Given the description of an element on the screen output the (x, y) to click on. 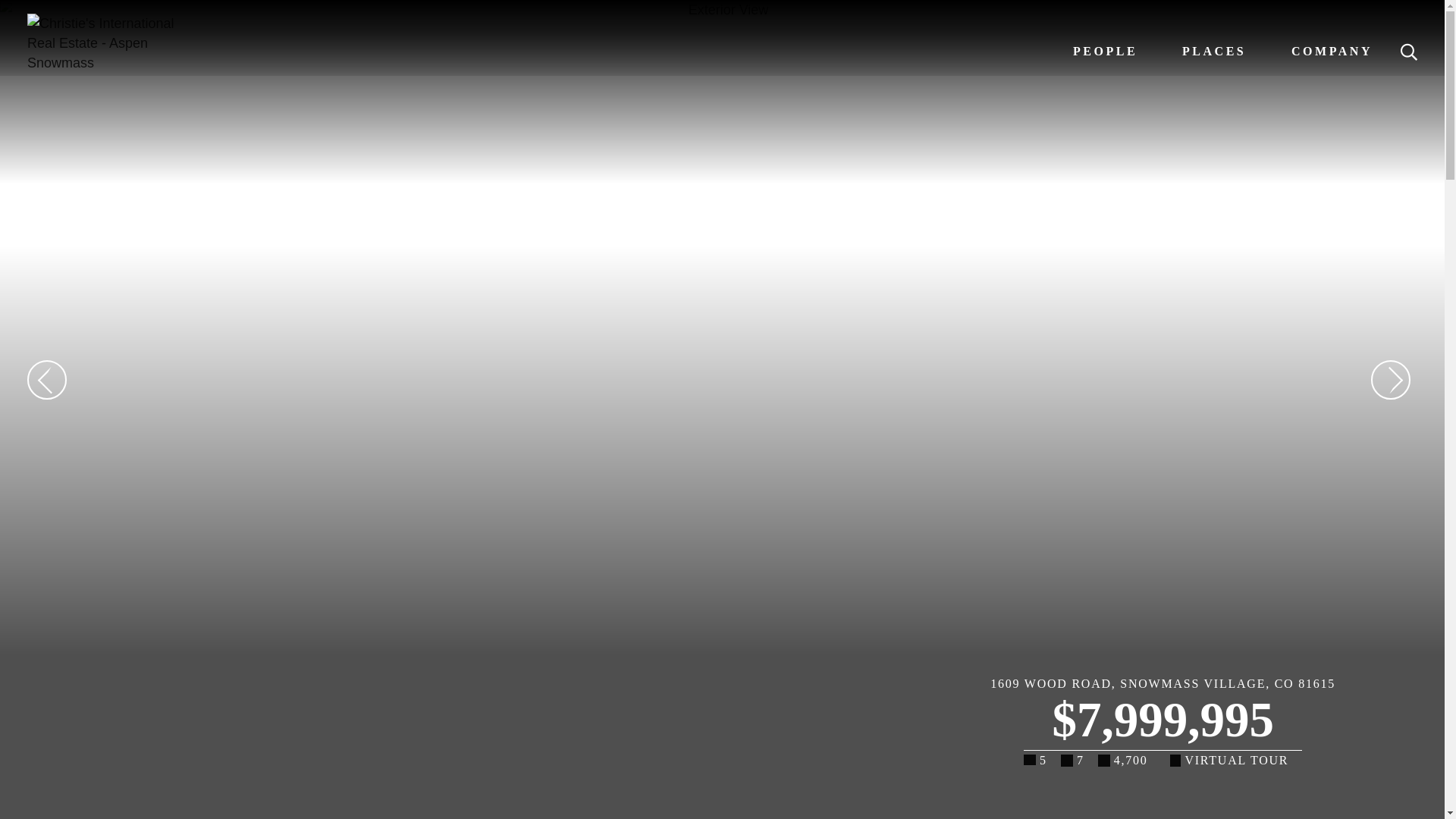
VIRTUAL TOUR (1235, 764)
COMPANY (1332, 51)
PLACES (1214, 51)
PEOPLE (1105, 51)
